Given the description of an element on the screen output the (x, y) to click on. 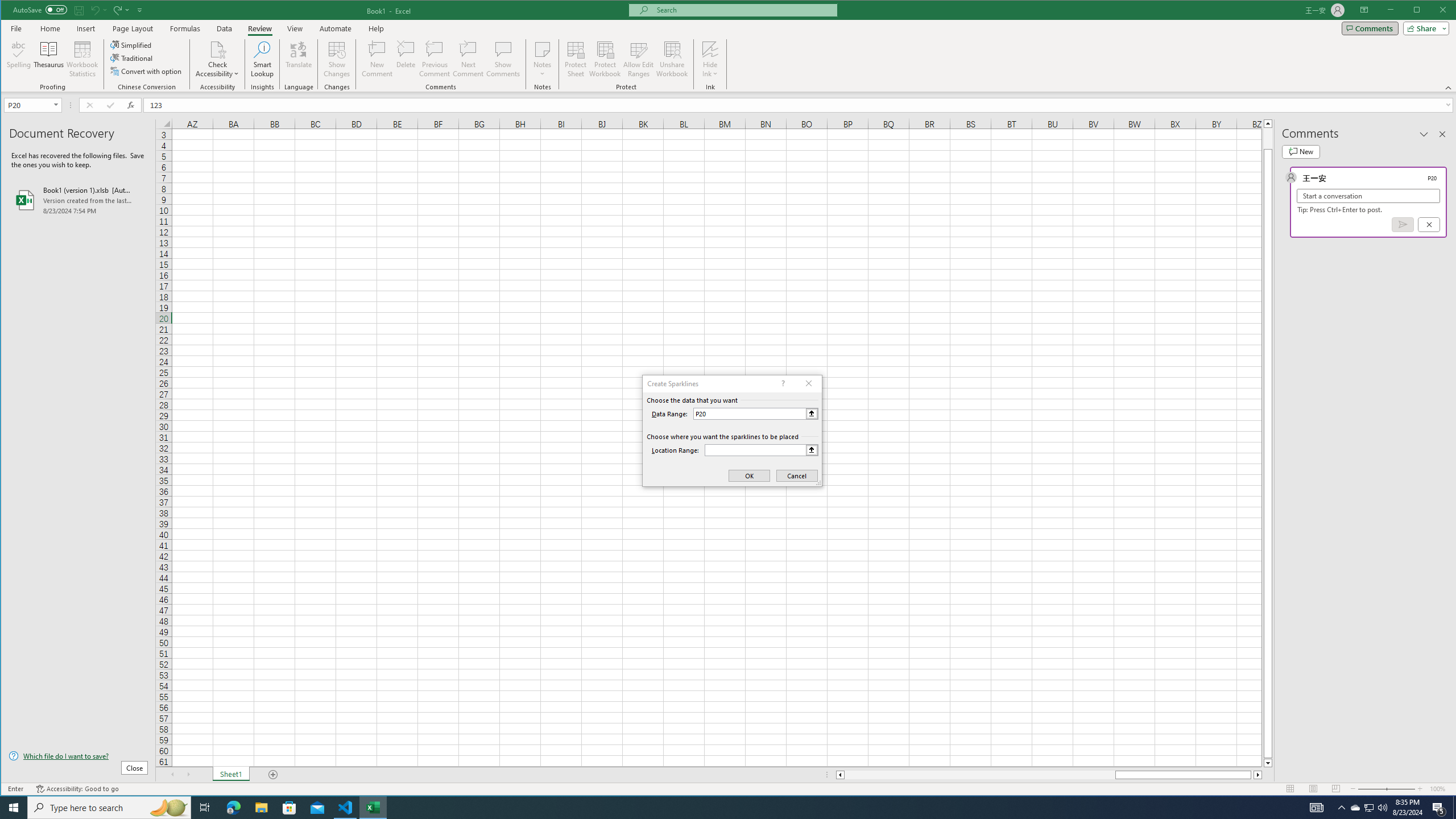
Protect Sheet... (575, 59)
Page up (1267, 138)
Allow Edit Ranges (638, 59)
Show Changes (335, 59)
